Given the description of an element on the screen output the (x, y) to click on. 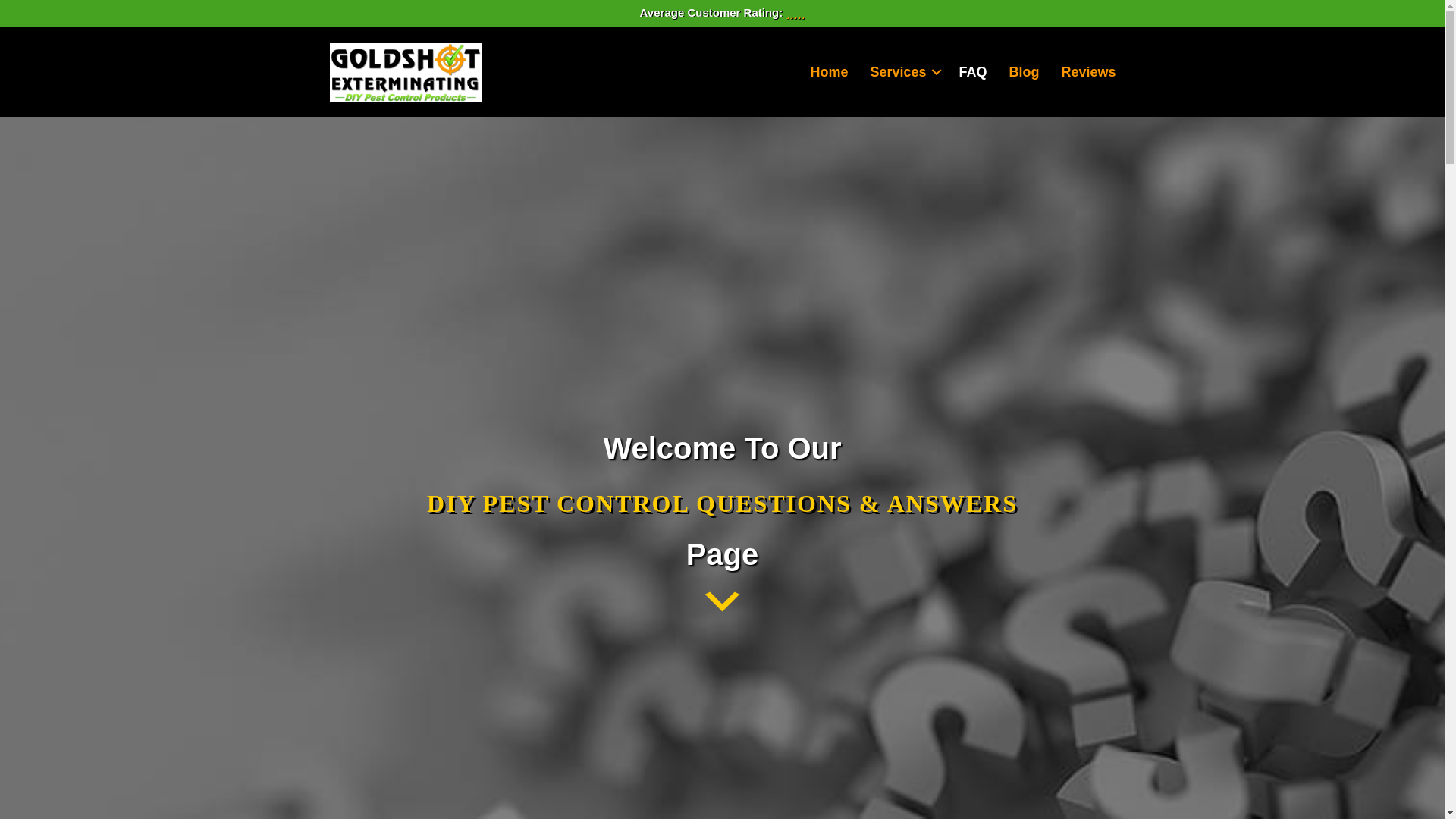
Reviews (1088, 71)
Blog (1023, 71)
Pest Control Company Reviews For GoldShot Exterminating (1088, 71)
Pest Control Questions And Answers (972, 71)
GoldShot Exterminating: Pest, Pigeons, Bees, Scorpions, etc. (829, 71)
Home (829, 71)
How To Get Rid Of Pests Blog (1023, 71)
FAQ (972, 71)
Services (903, 71)
Pest Control Services (903, 71)
DIY Pest Control Products (405, 72)
